Given the description of an element on the screen output the (x, y) to click on. 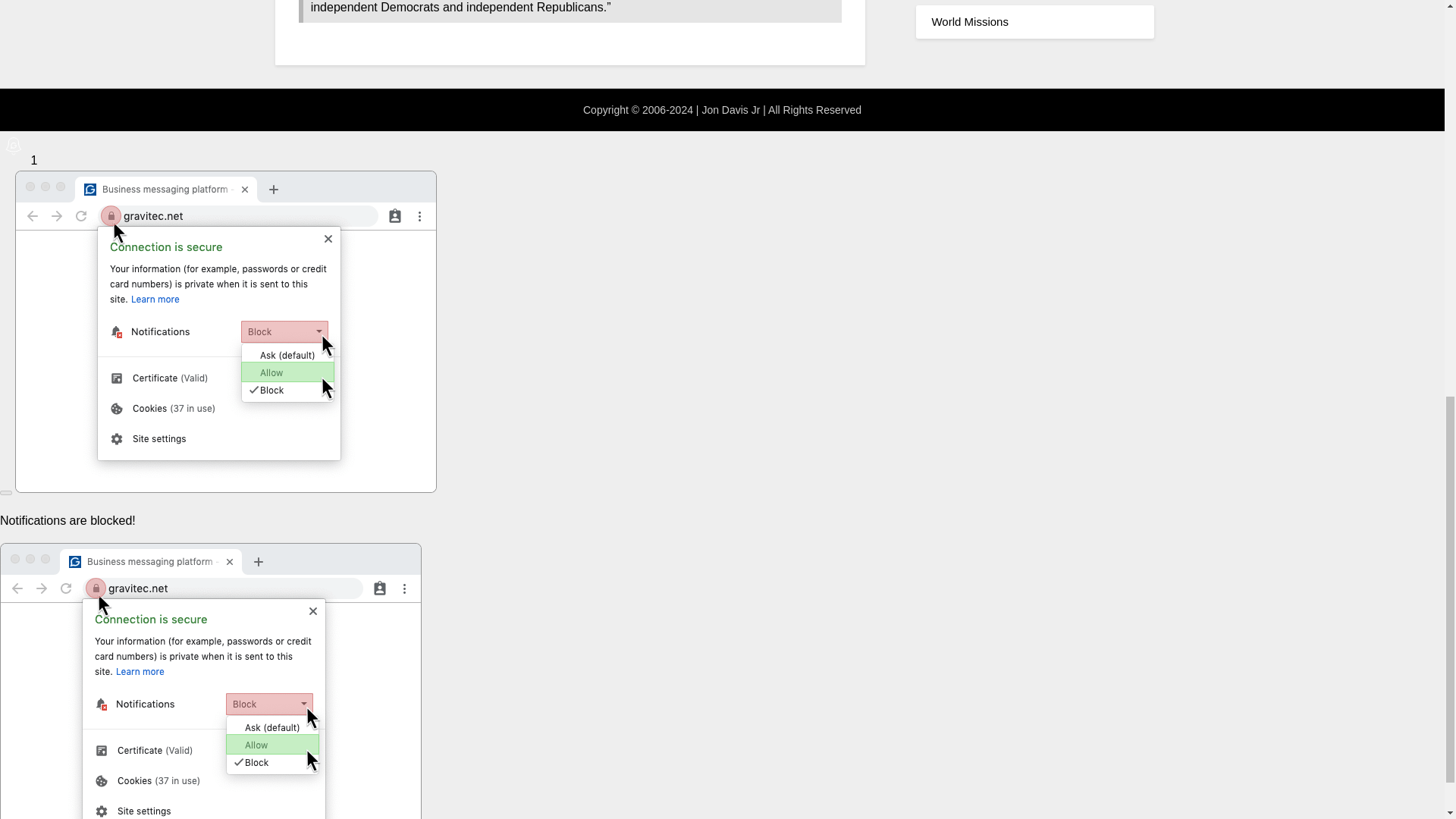
World Missions (969, 21)
